Given the description of an element on the screen output the (x, y) to click on. 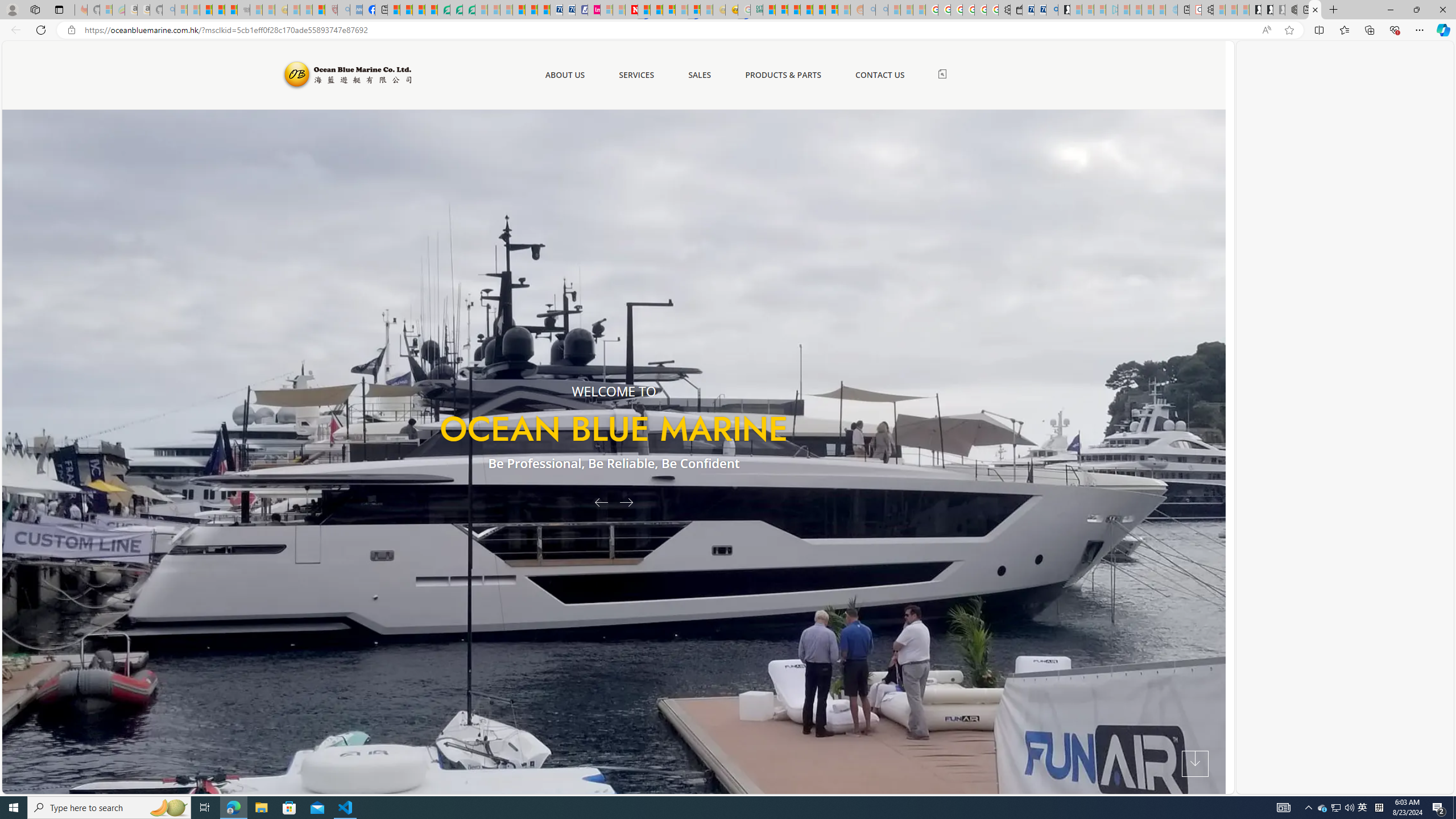
SALES (699, 75)
Next Slide (630, 501)
SERVICES (636, 74)
Local - MSN (318, 9)
Next Section (1195, 764)
